Given the description of an element on the screen output the (x, y) to click on. 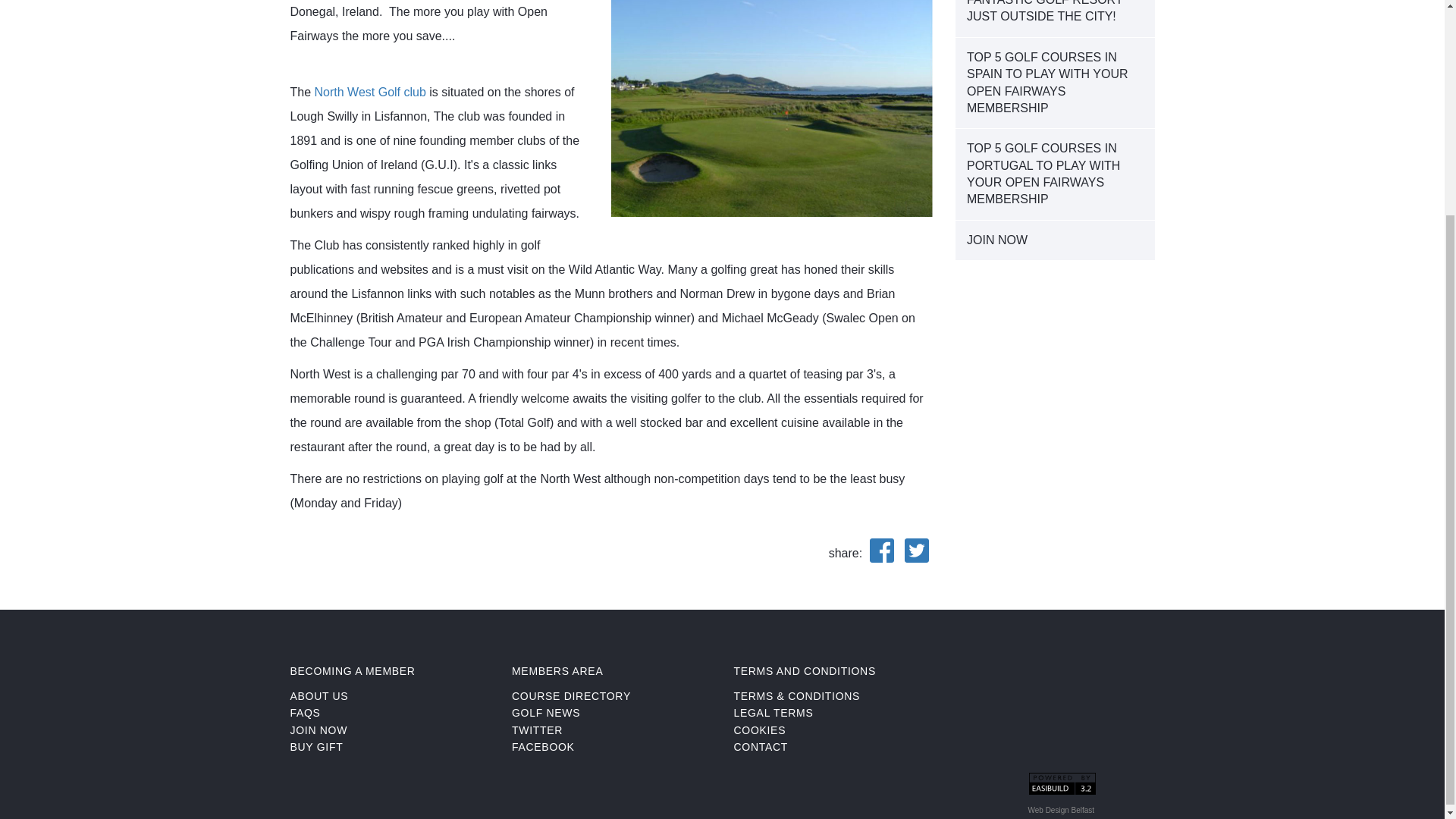
North West Golf club (370, 91)
Website Design Belfast (1060, 809)
JOIN NOW (1054, 240)
